Given the description of an element on the screen output the (x, y) to click on. 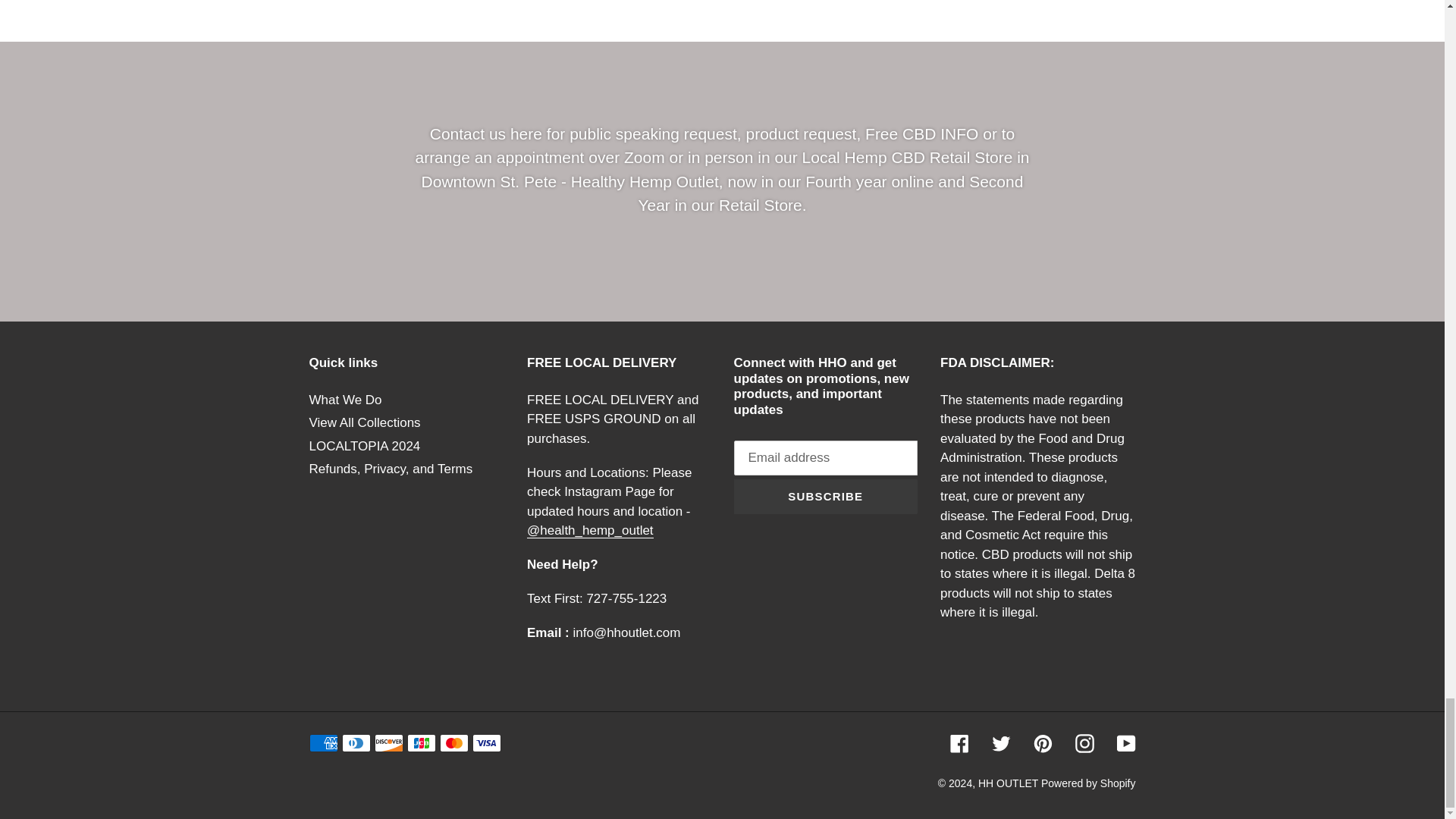
What We Do (344, 400)
View All Collections (364, 422)
LOCALTOPIA 2024 (364, 445)
